Given the description of an element on the screen output the (x, y) to click on. 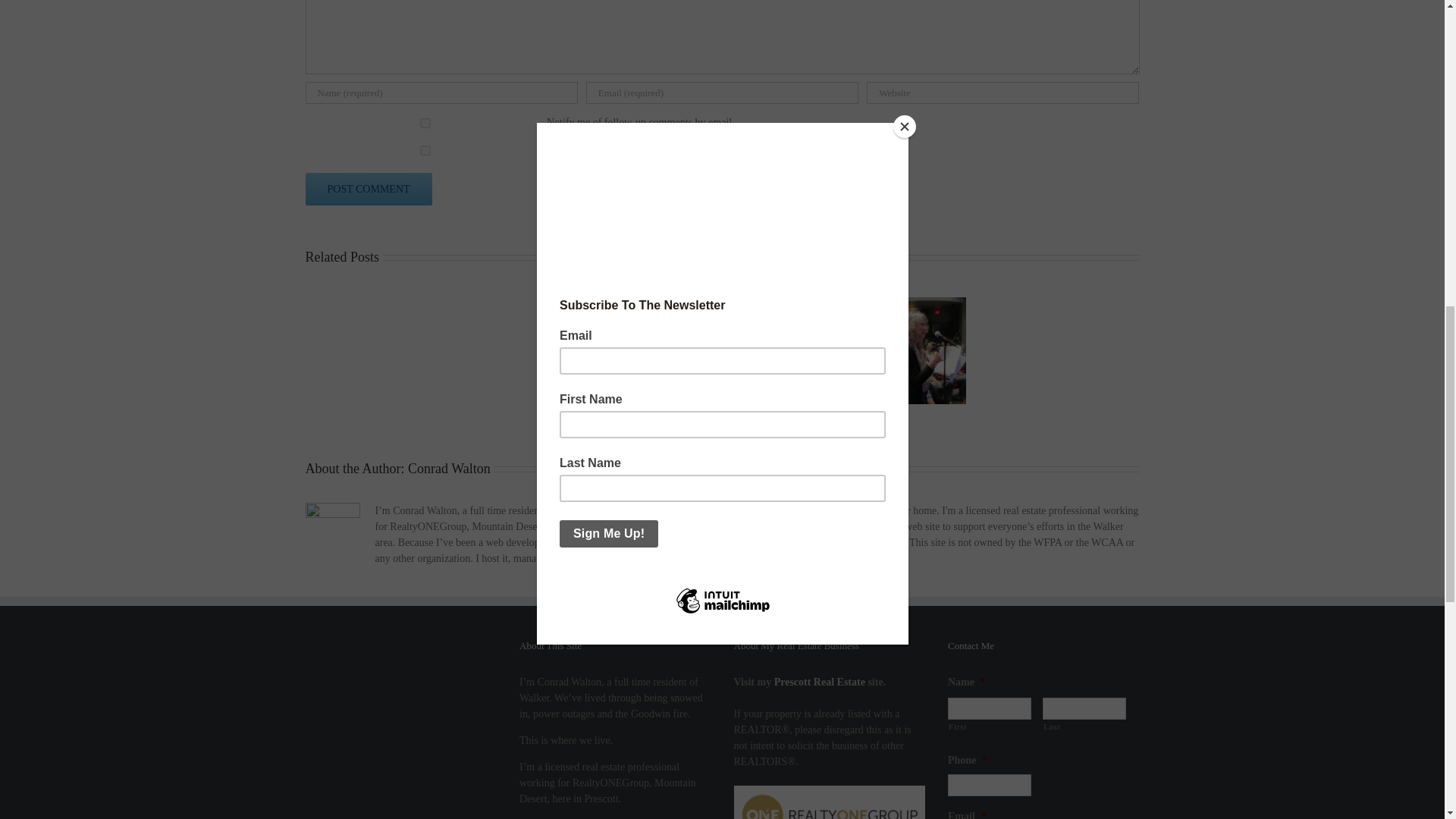
Posts by Conrad Walton (448, 468)
subscribe (424, 150)
Post Comment (367, 188)
subscribe (424, 122)
